Given the description of an element on the screen output the (x, y) to click on. 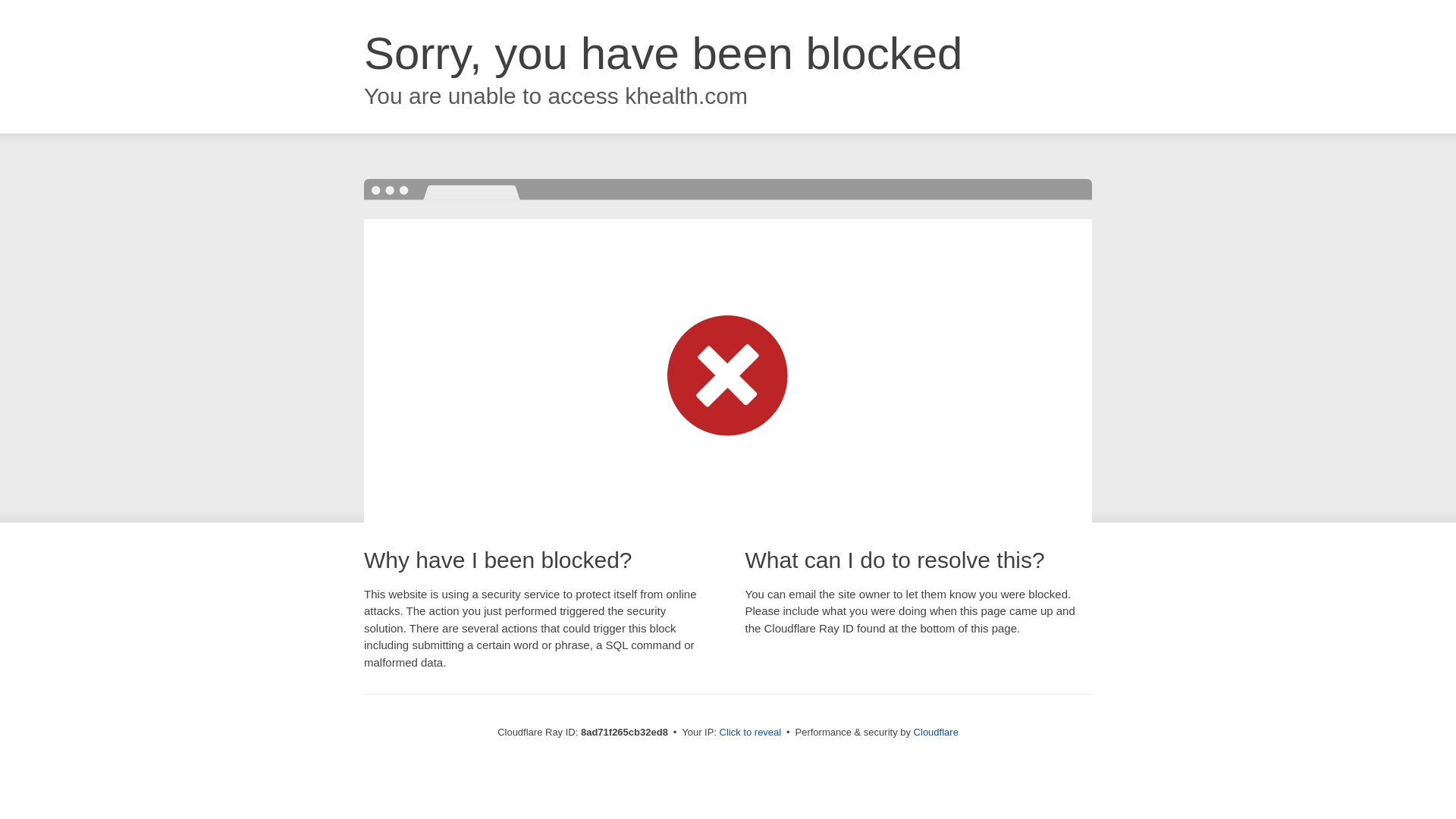
Cloudflare (936, 731)
Click to reveal (750, 732)
